Given the description of an element on the screen output the (x, y) to click on. 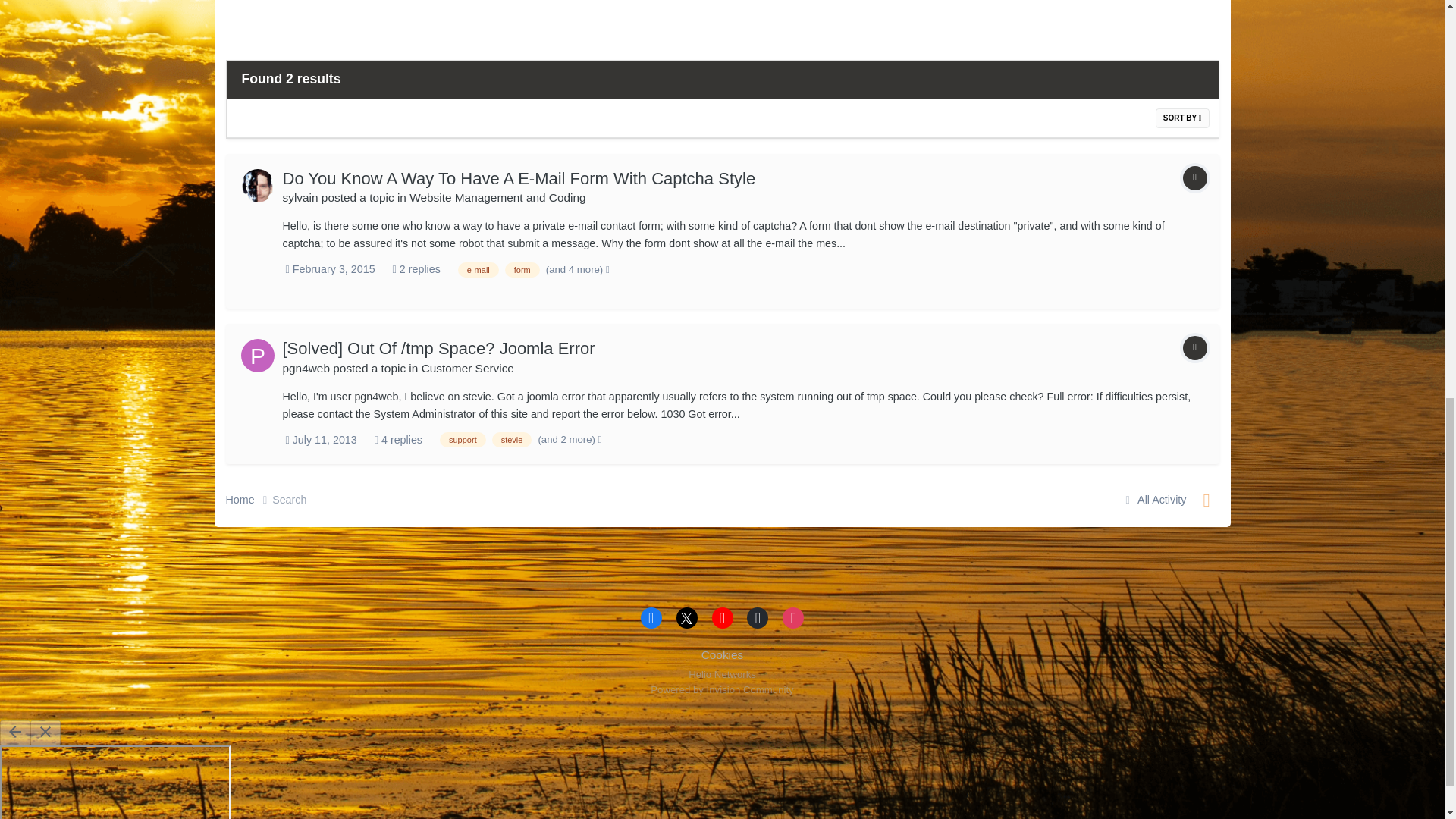
Go to sylvain's profile (258, 185)
Find other content tagged with 'e-mail' (478, 269)
Topic (1194, 178)
Advertisement (900, 22)
Find other content tagged with 'form' (522, 269)
Go to sylvain's profile (299, 196)
